Given the description of an element on the screen output the (x, y) to click on. 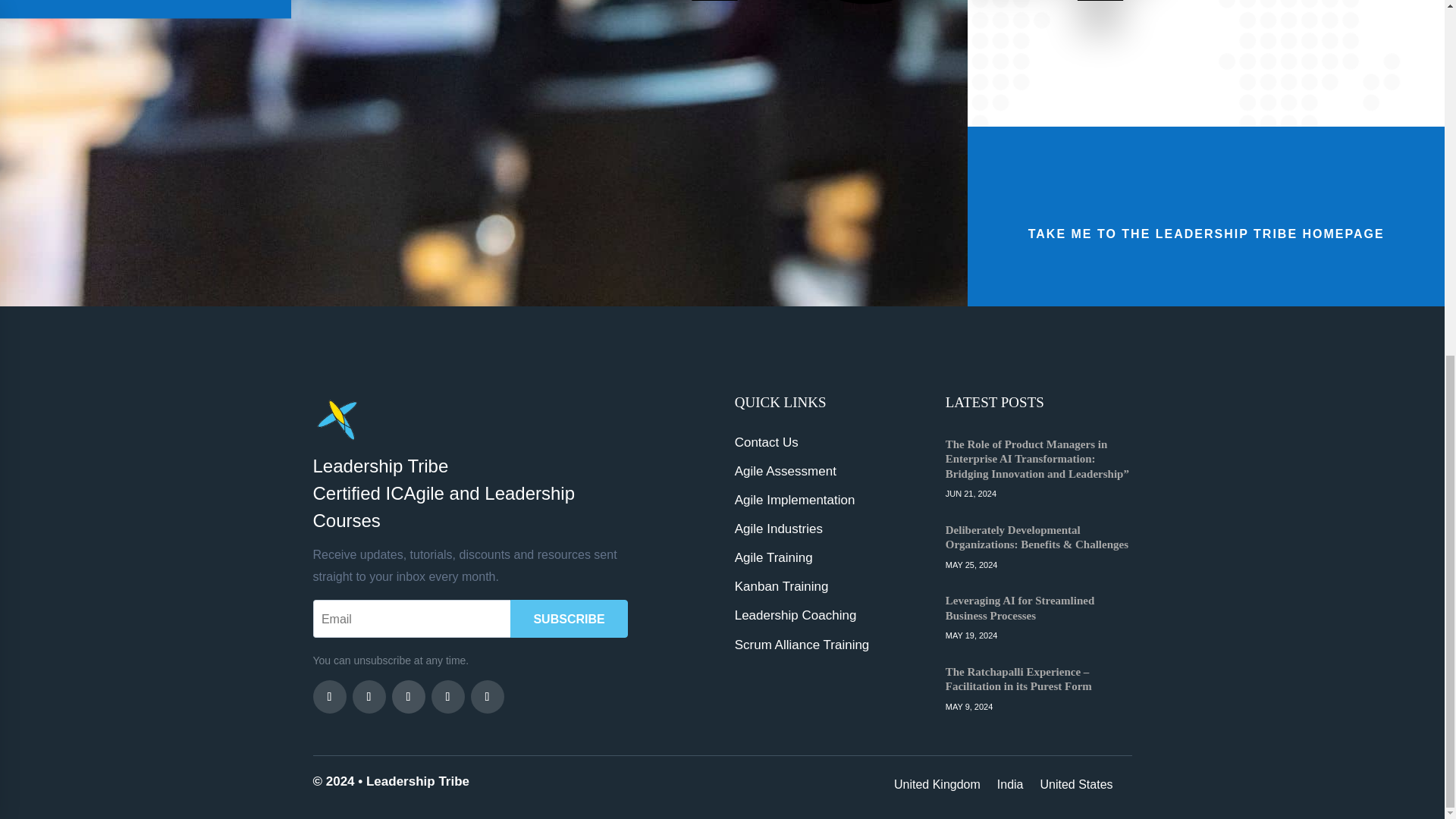
Follow on Facebook (329, 696)
Follow on Instagram (486, 696)
Follow on Youtube (408, 696)
LT Logo (336, 418)
Follow on Twitter (368, 696)
Follow on LinkedIn (447, 696)
